Given the description of an element on the screen output the (x, y) to click on. 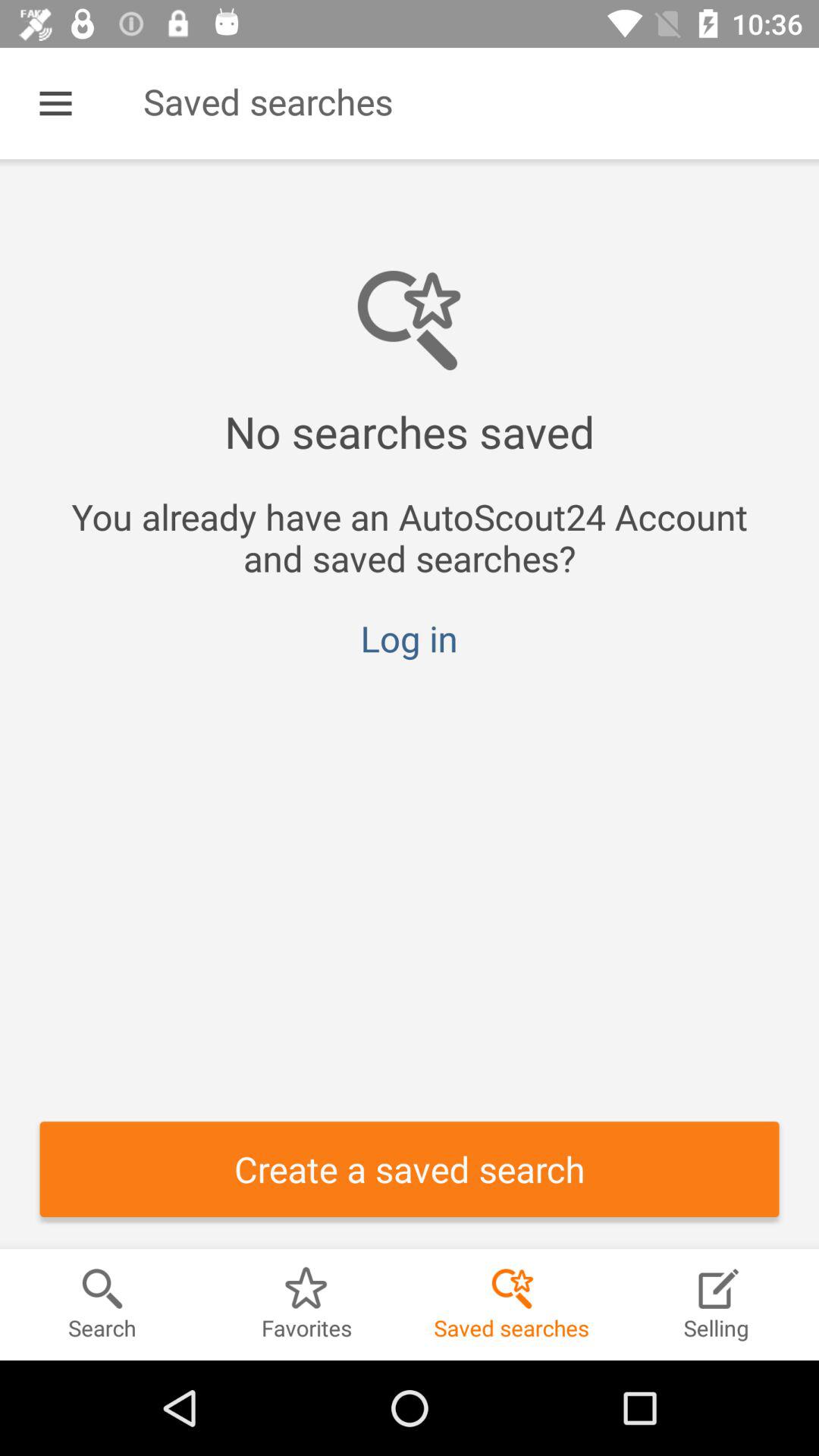
choose the icon above the create a saved (408, 638)
